Given the description of an element on the screen output the (x, y) to click on. 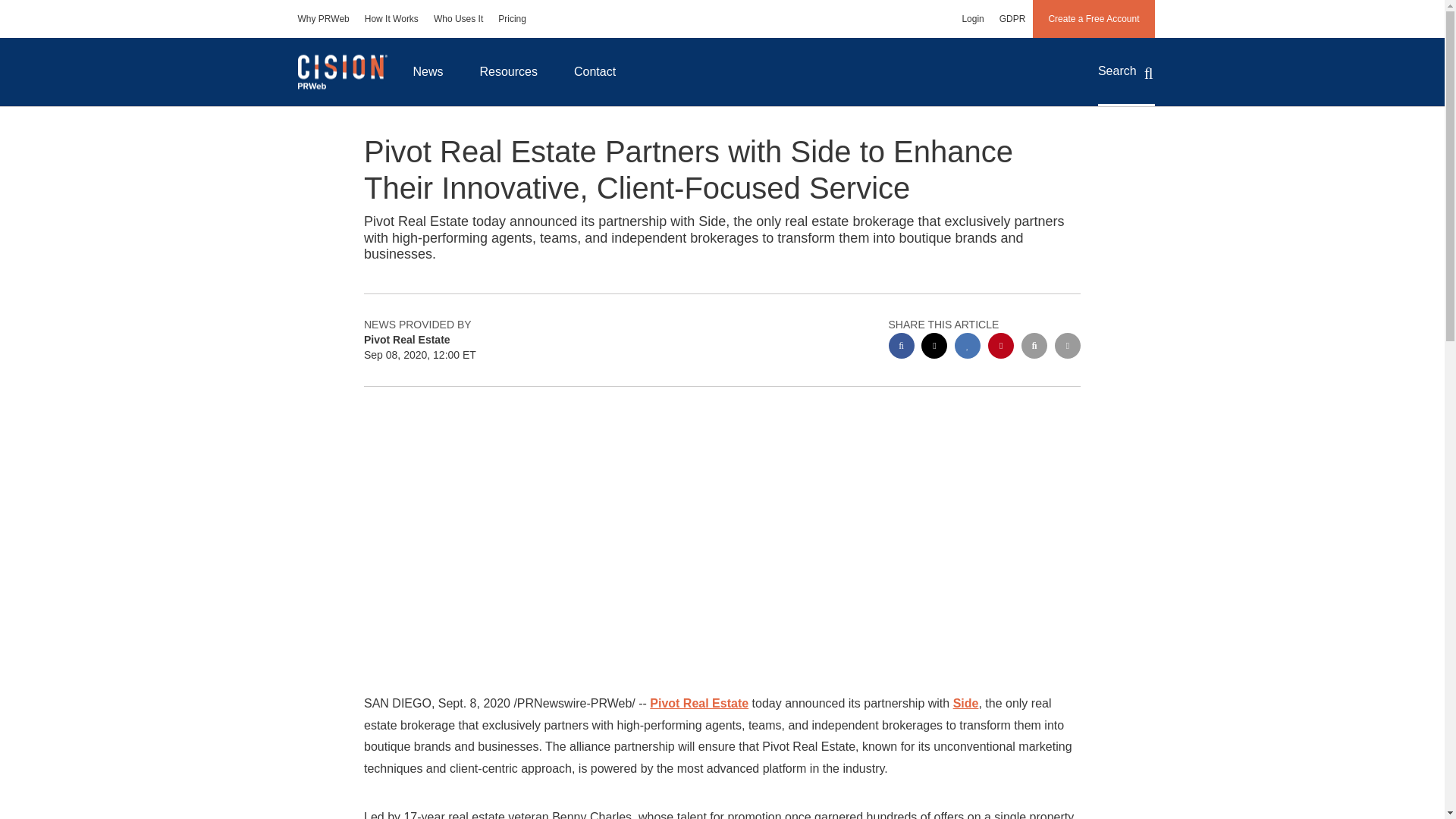
How It Works (391, 18)
Contact (594, 71)
Why PRWeb (322, 18)
Who Uses It (458, 18)
Pricing (512, 18)
Create a Free Account (1093, 18)
GDPR (1012, 18)
Login (972, 18)
Resources (508, 71)
News (427, 71)
